Given the description of an element on the screen output the (x, y) to click on. 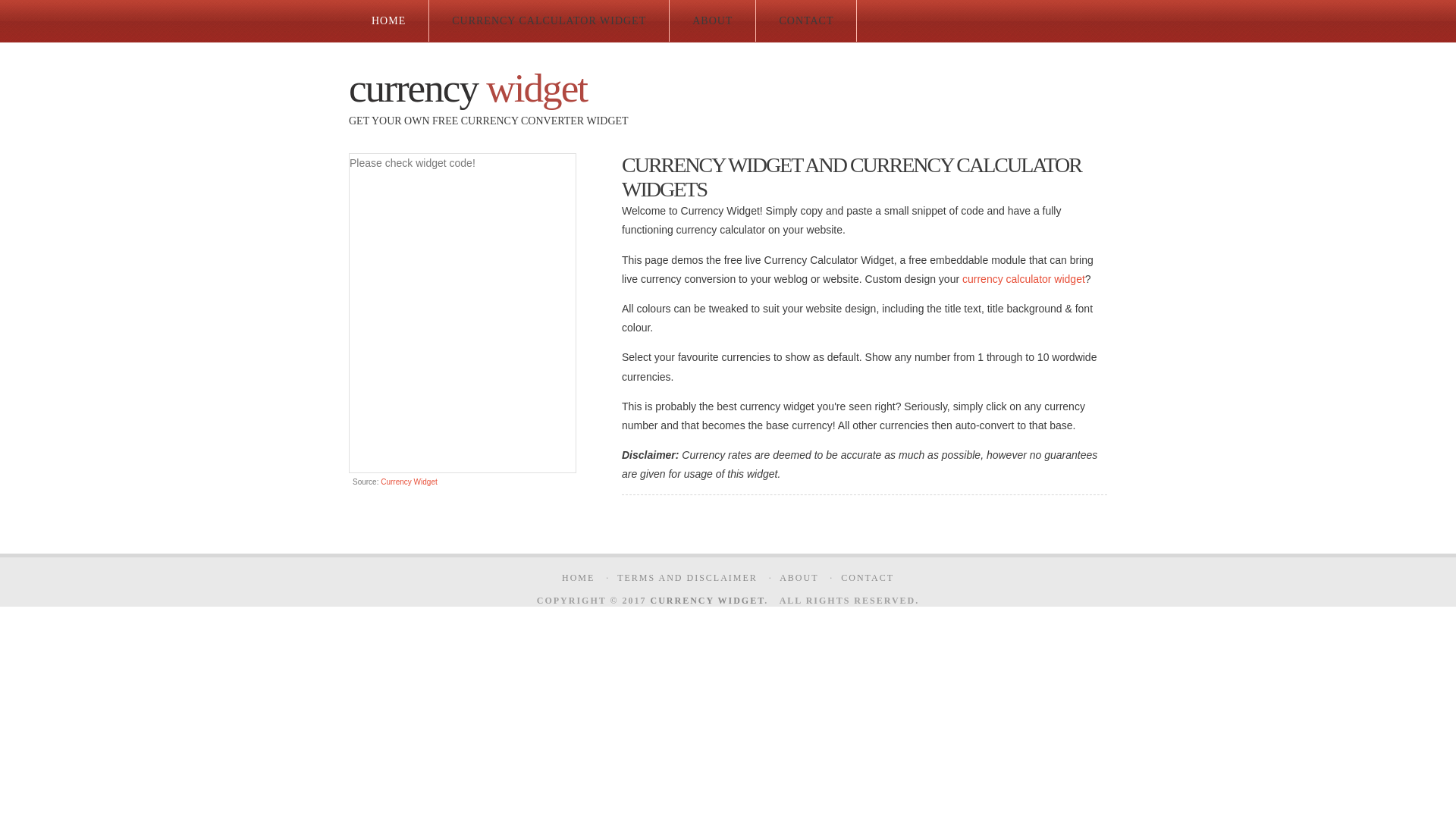
ABOUT (712, 20)
currency calculator widget (1023, 278)
CURRENCY CONVERTER WIDGET (544, 120)
HOME (388, 20)
currency widget (467, 88)
ABOUT (798, 577)
CURRENCY WIDGET (707, 600)
Currency Widget (408, 481)
CURRENCY CALCULATOR WIDGET (548, 20)
HOME (578, 577)
